Given the description of an element on the screen output the (x, y) to click on. 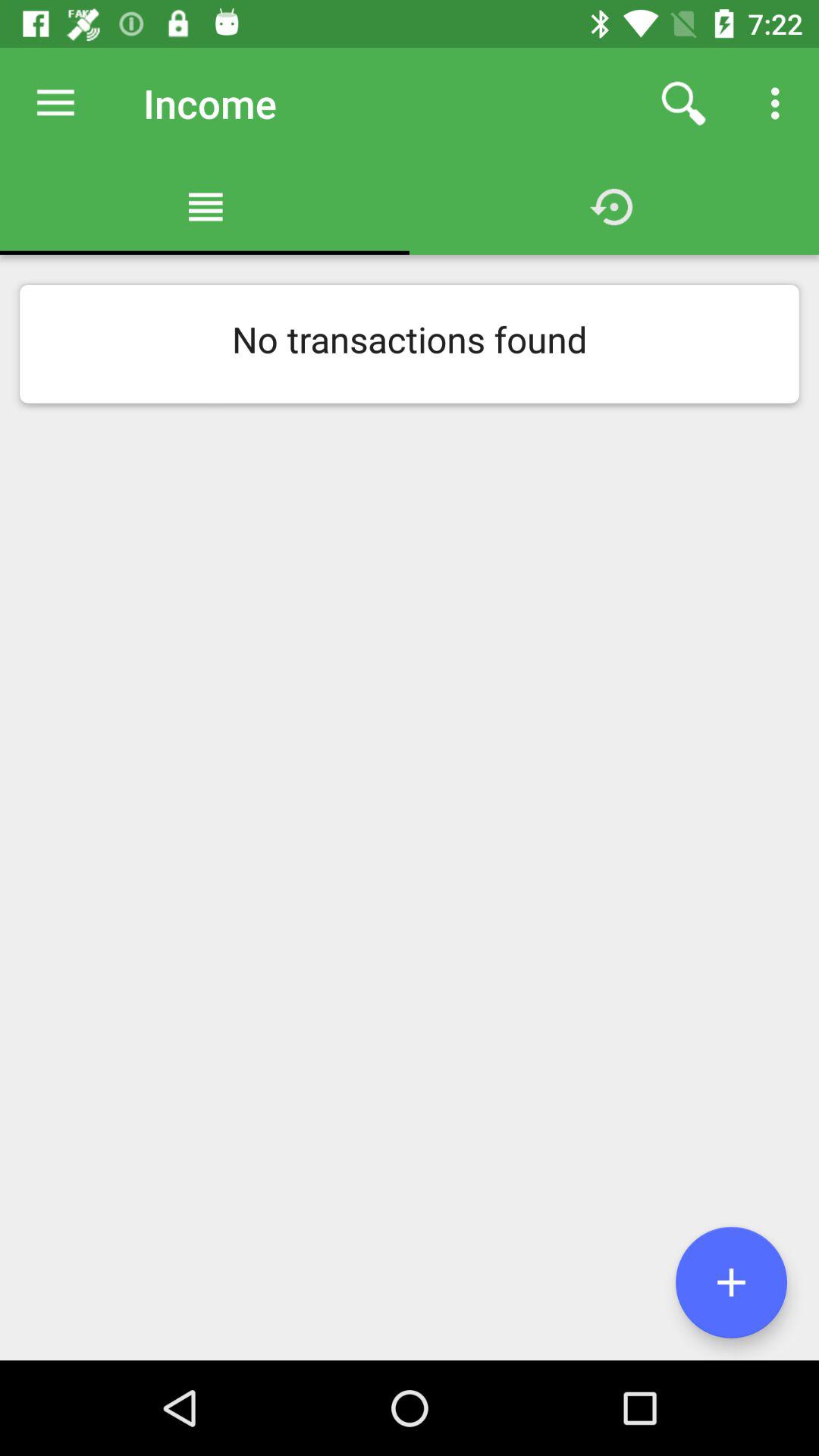
add transaction or entry (731, 1282)
